Given the description of an element on the screen output the (x, y) to click on. 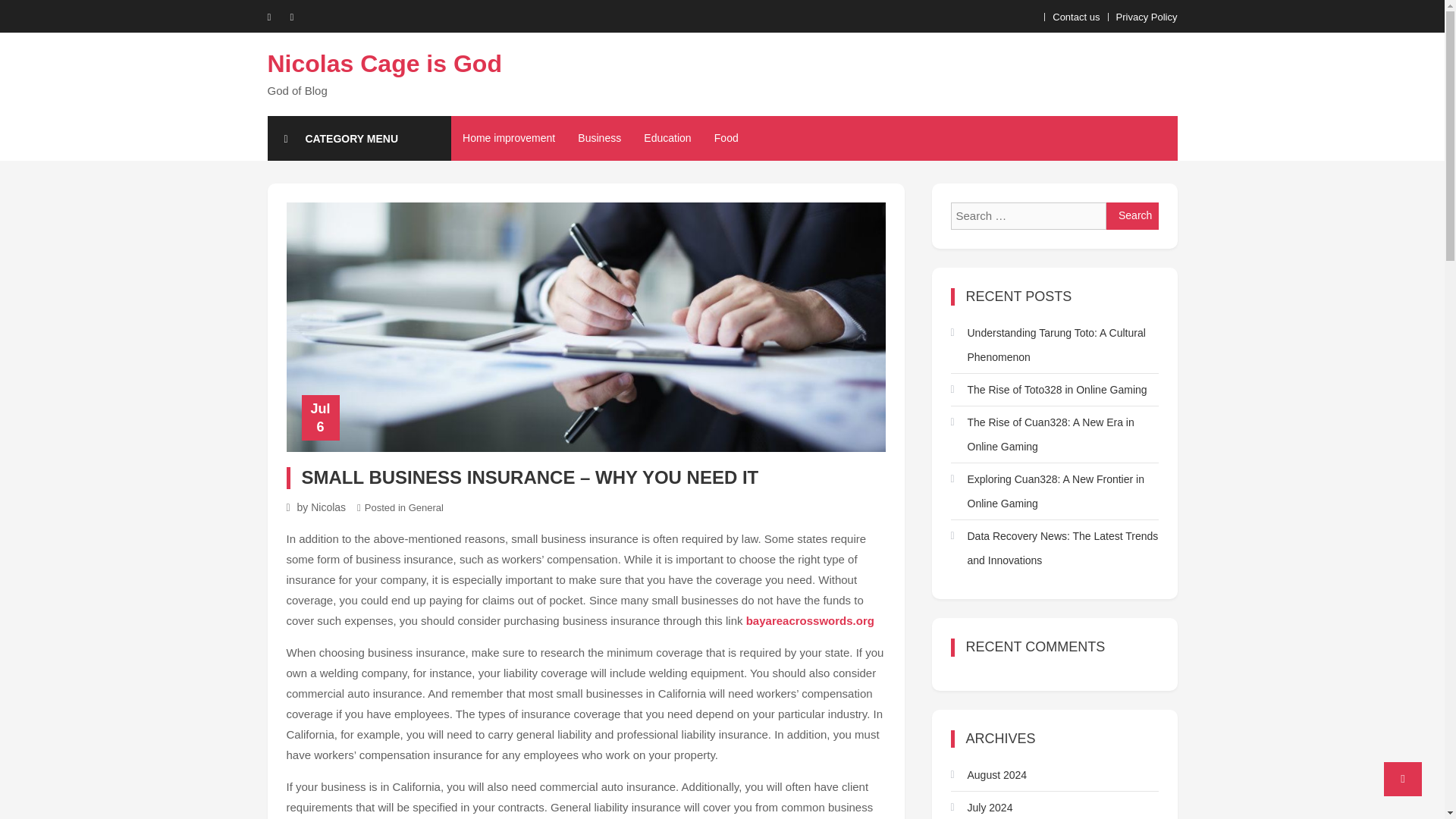
Search (1132, 216)
Food (726, 138)
Privacy Policy (1146, 16)
Business (598, 138)
Nicolas (328, 507)
Contact us (1075, 16)
Search (1132, 216)
Education (666, 138)
General (426, 507)
Understanding Tarung Toto: A Cultural Phenomenon (1054, 345)
